Given the description of an element on the screen output the (x, y) to click on. 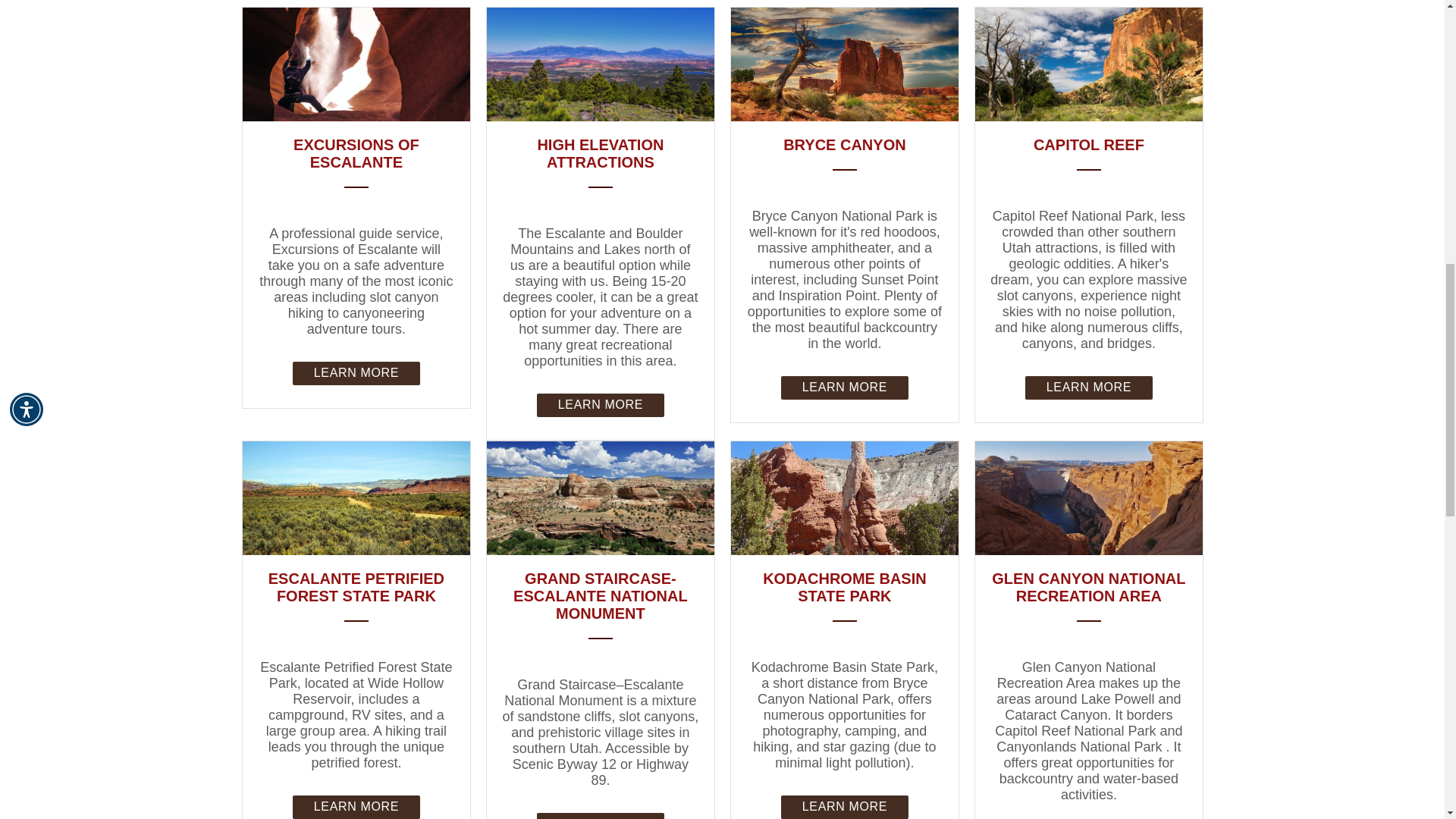
GRAND STAIRCASE-ESCALANTE NATIONAL MONUMENT (600, 596)
LEARN MORE (843, 387)
LEARN MORE (599, 404)
LEARN MORE (843, 806)
See more information for High Elevation Attractions (600, 153)
LEARN MORE (355, 372)
LEARN MORE (1088, 387)
HIGH ELEVATION ATTRACTIONS (600, 153)
LEARN MORE (355, 806)
LEARN MORE (599, 816)
